Given the description of an element on the screen output the (x, y) to click on. 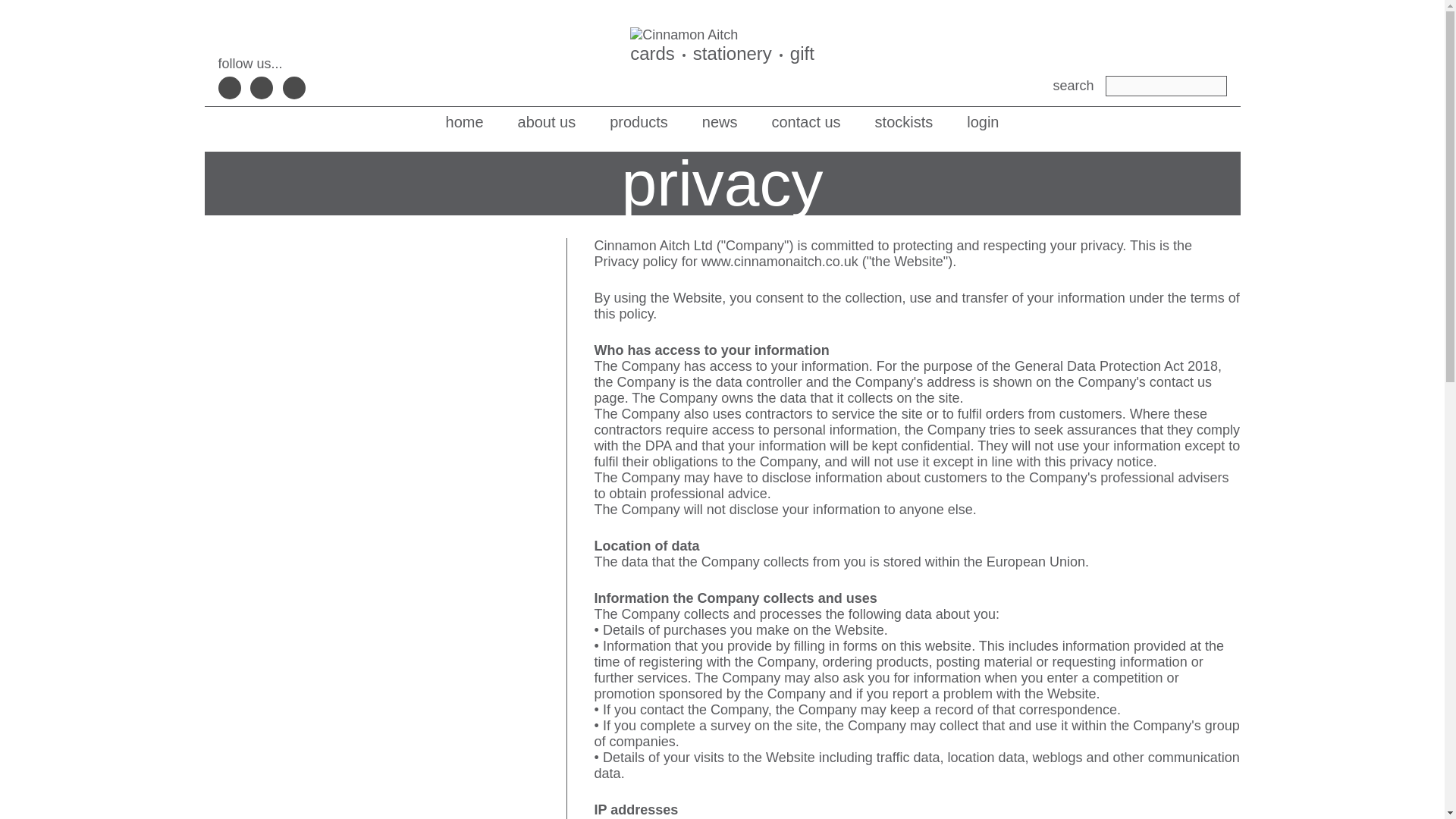
products (639, 122)
Facebook (229, 87)
Instagram (293, 87)
contact us (806, 122)
about us (547, 122)
login (982, 122)
home (464, 122)
cardsstationerygift (721, 45)
Twitter (261, 87)
stockists (904, 122)
news (719, 122)
